Given the description of an element on the screen output the (x, y) to click on. 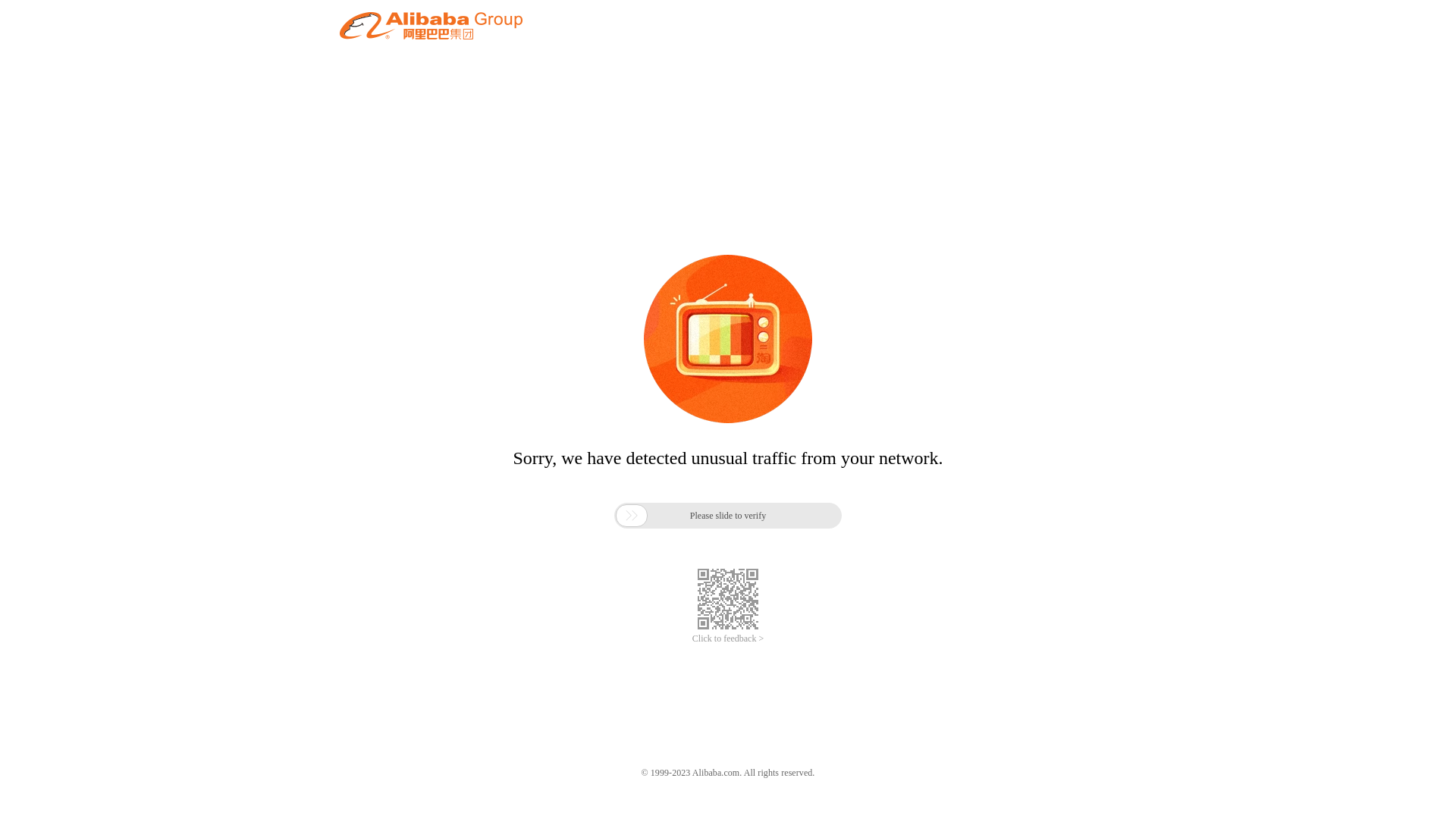
Click to feedback > Element type: text (727, 638)
